Given the description of an element on the screen output the (x, y) to click on. 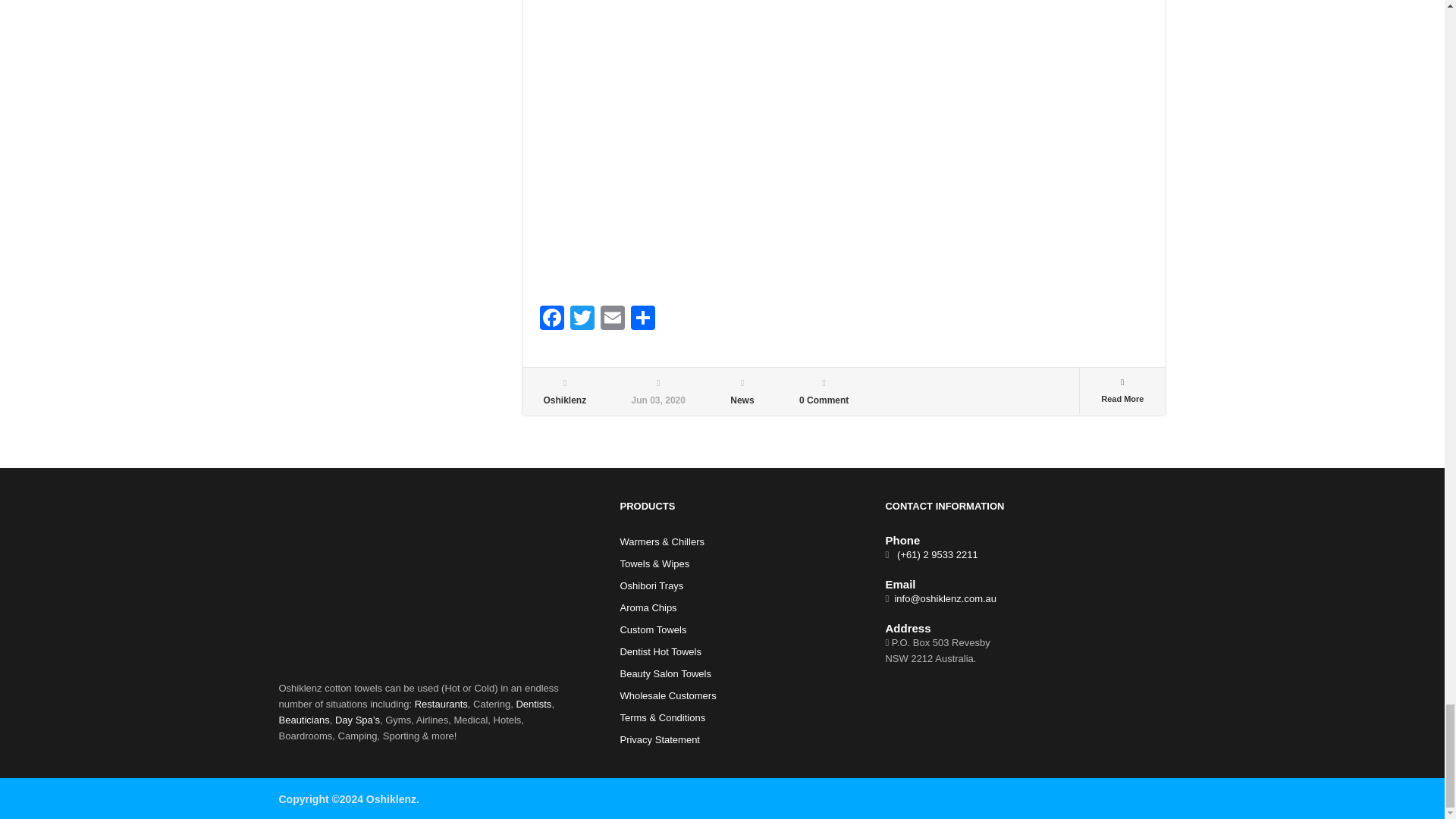
Facebook (552, 319)
Twitter (581, 319)
Email (611, 319)
